Given the description of an element on the screen output the (x, y) to click on. 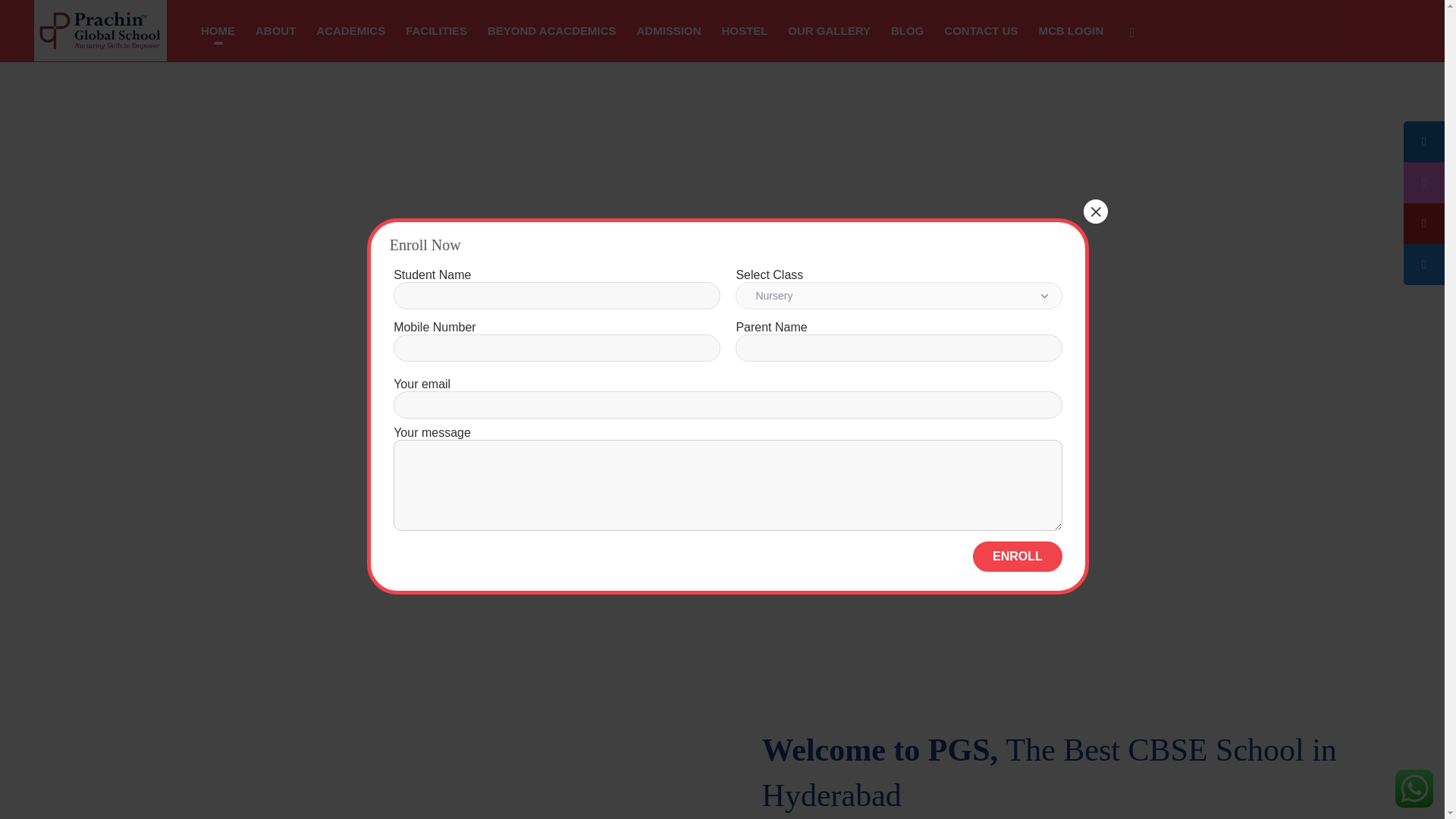
ADMISSION (668, 30)
ACADEMICS (349, 30)
Enroll (1017, 556)
HOME (217, 30)
ABOUT (275, 30)
FACILITIES (436, 30)
BEYOND ACACDEMICS (551, 30)
